Given the description of an element on the screen output the (x, y) to click on. 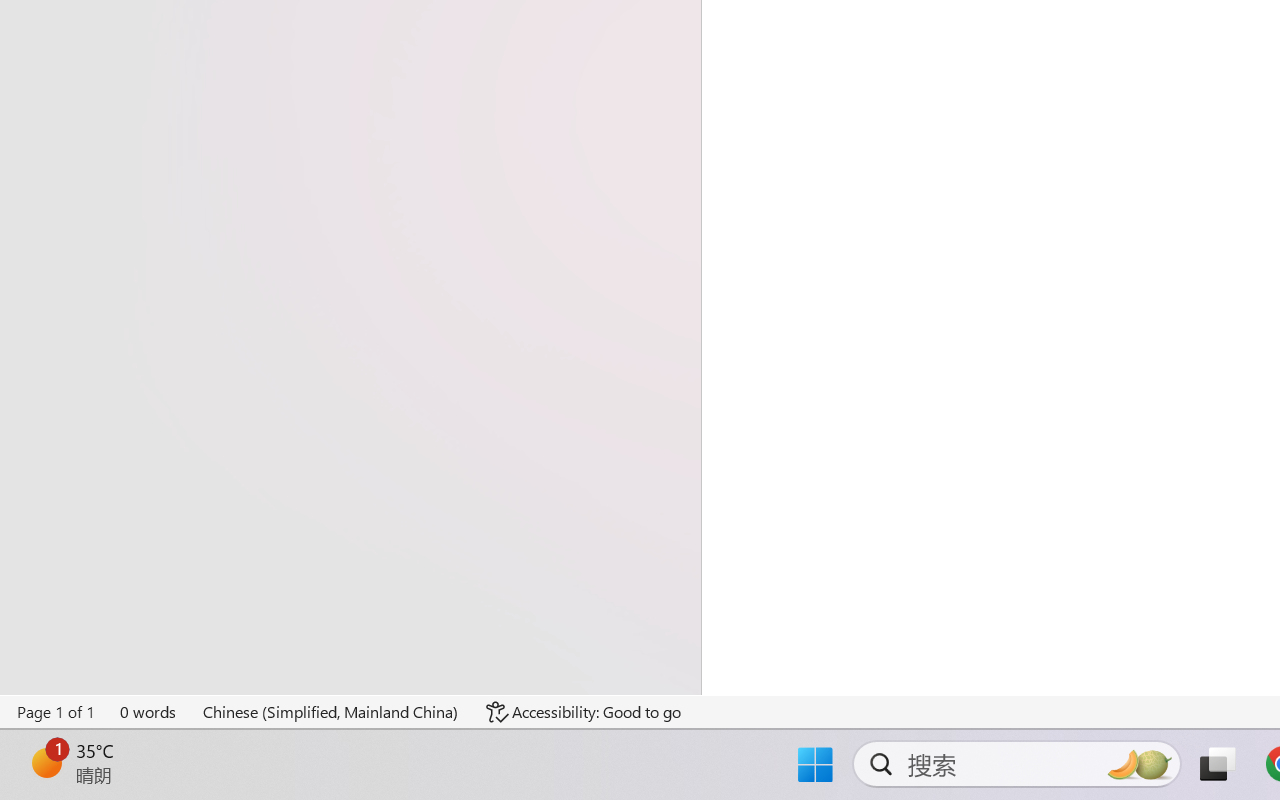
Language Chinese (Simplified, Mainland China) (331, 712)
